Given the description of an element on the screen output the (x, y) to click on. 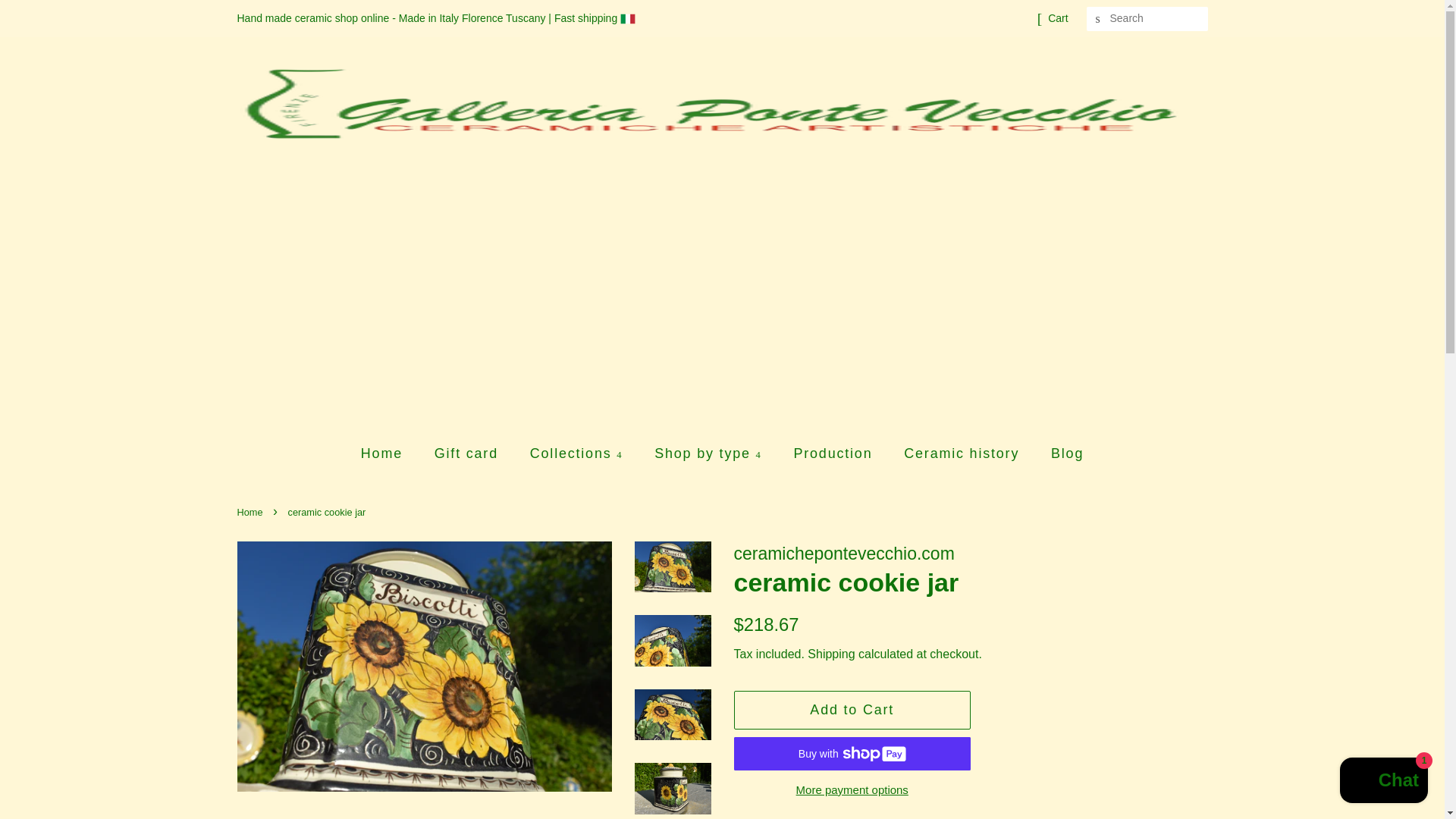
Shopify online store chat (1383, 781)
Back to the frontpage (250, 511)
Cart (1057, 18)
Search (1097, 18)
